Given the description of an element on the screen output the (x, y) to click on. 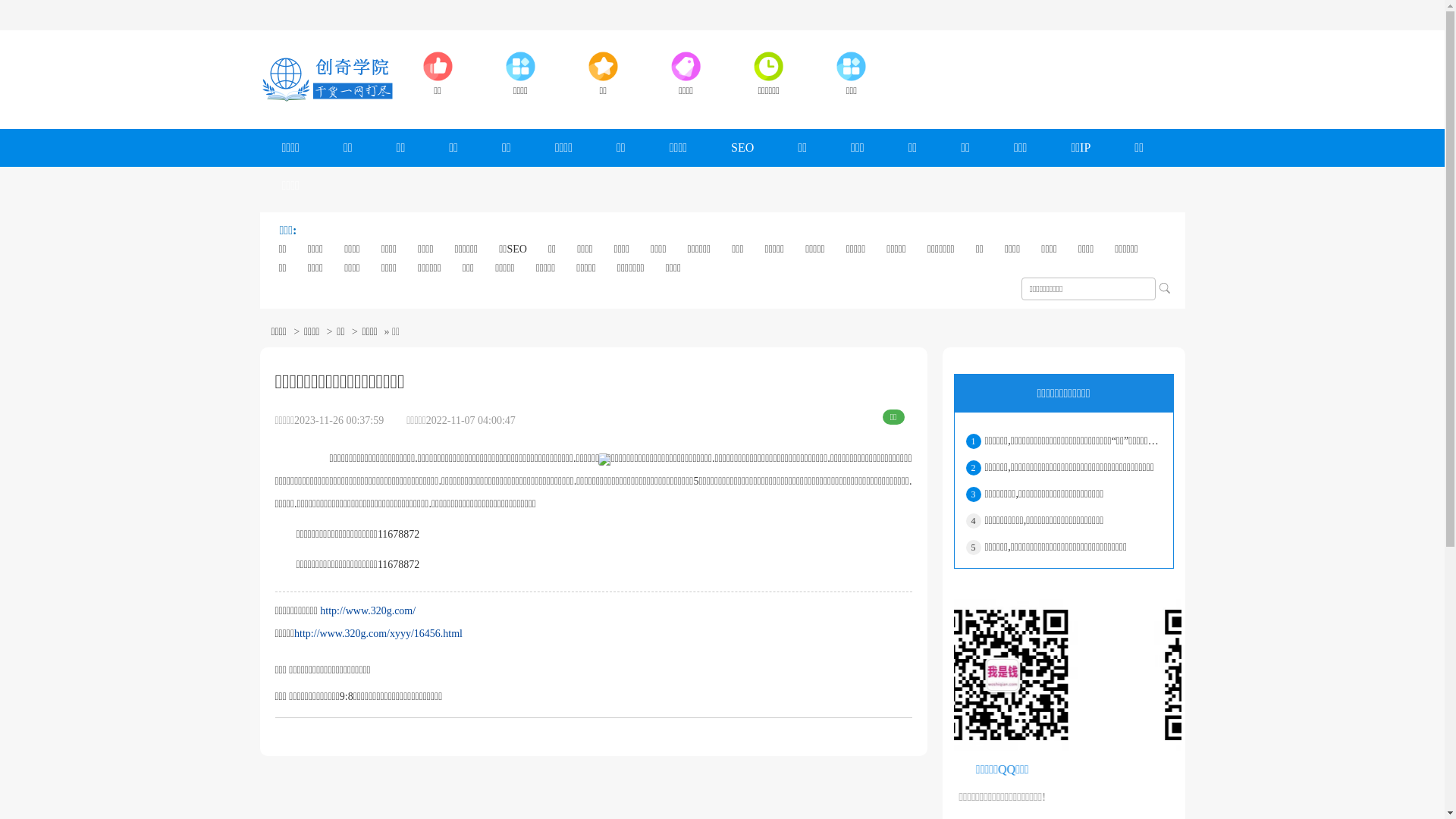
http://www.320g.com/ Element type: text (367, 610)
SEO Element type: text (742, 147)
http://www.320g.com/xyyy/16456.html Element type: text (378, 633)
